Given the description of an element on the screen output the (x, y) to click on. 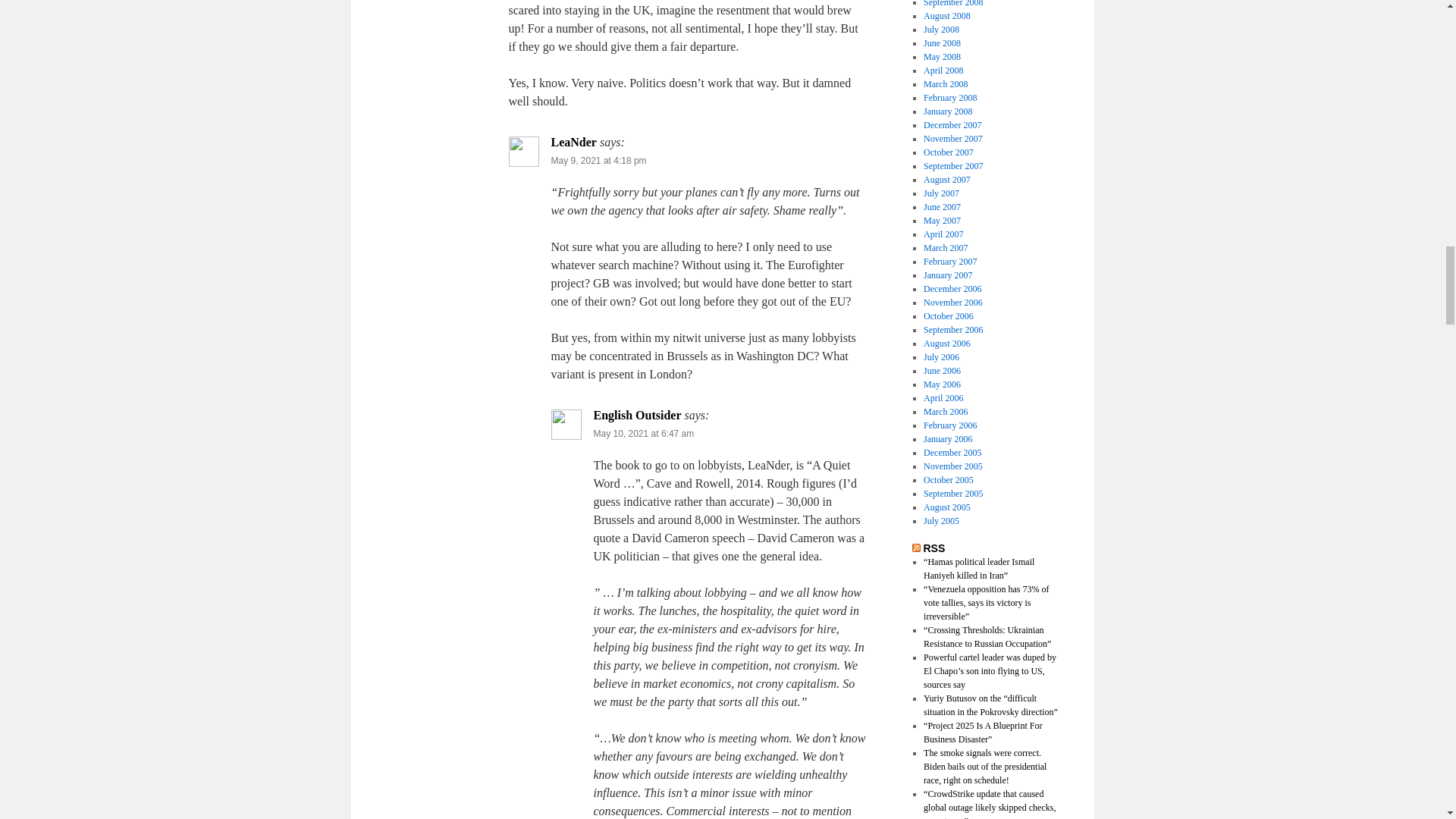
May 9, 2021 at 4:18 pm (598, 160)
May 10, 2021 at 6:47 am (643, 433)
